Given the description of an element on the screen output the (x, y) to click on. 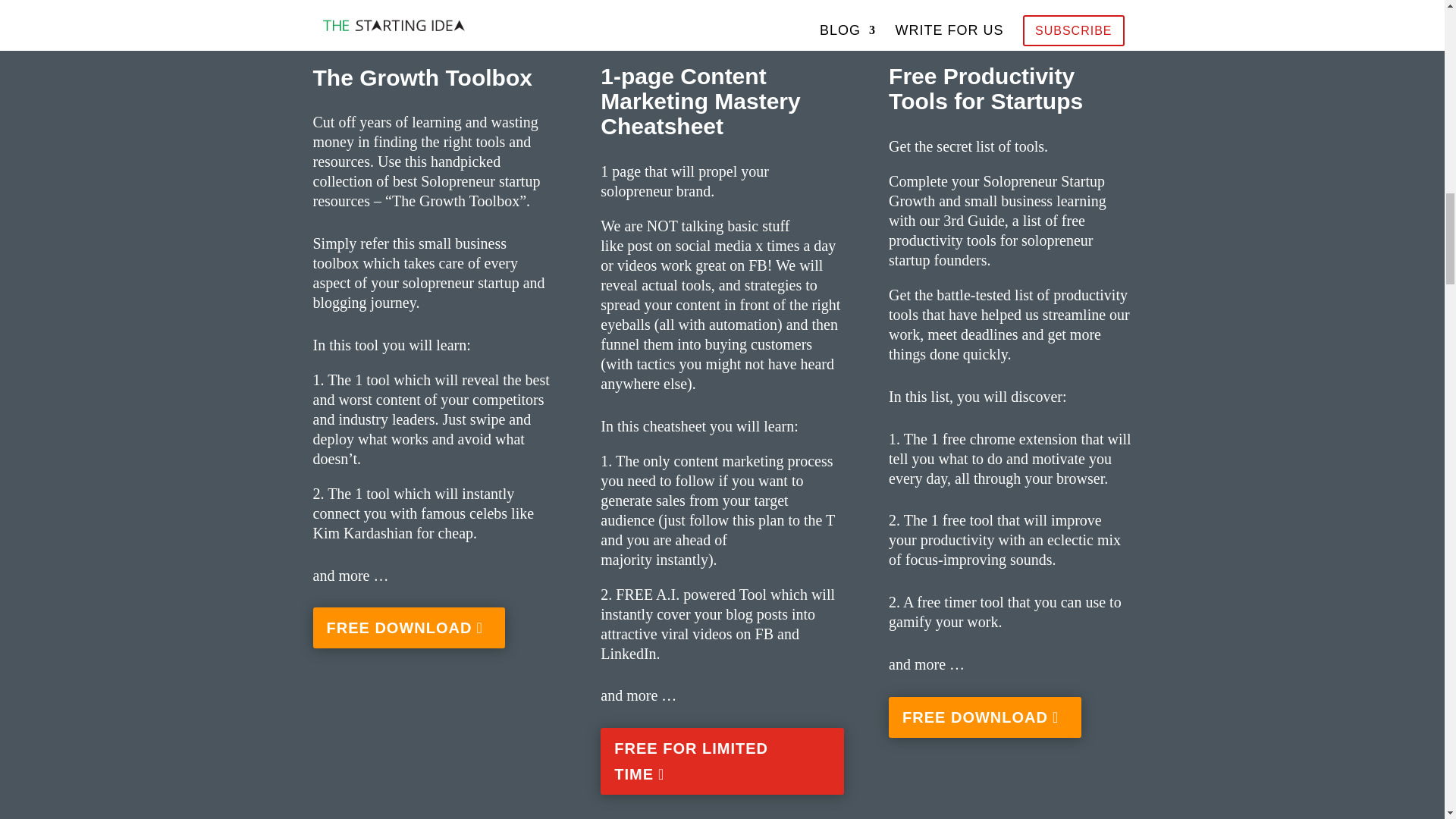
FREE DOWNLOAD (984, 716)
FREE DOWNLOAD (409, 627)
FREE FOR LIMITED TIME (721, 761)
